Given the description of an element on the screen output the (x, y) to click on. 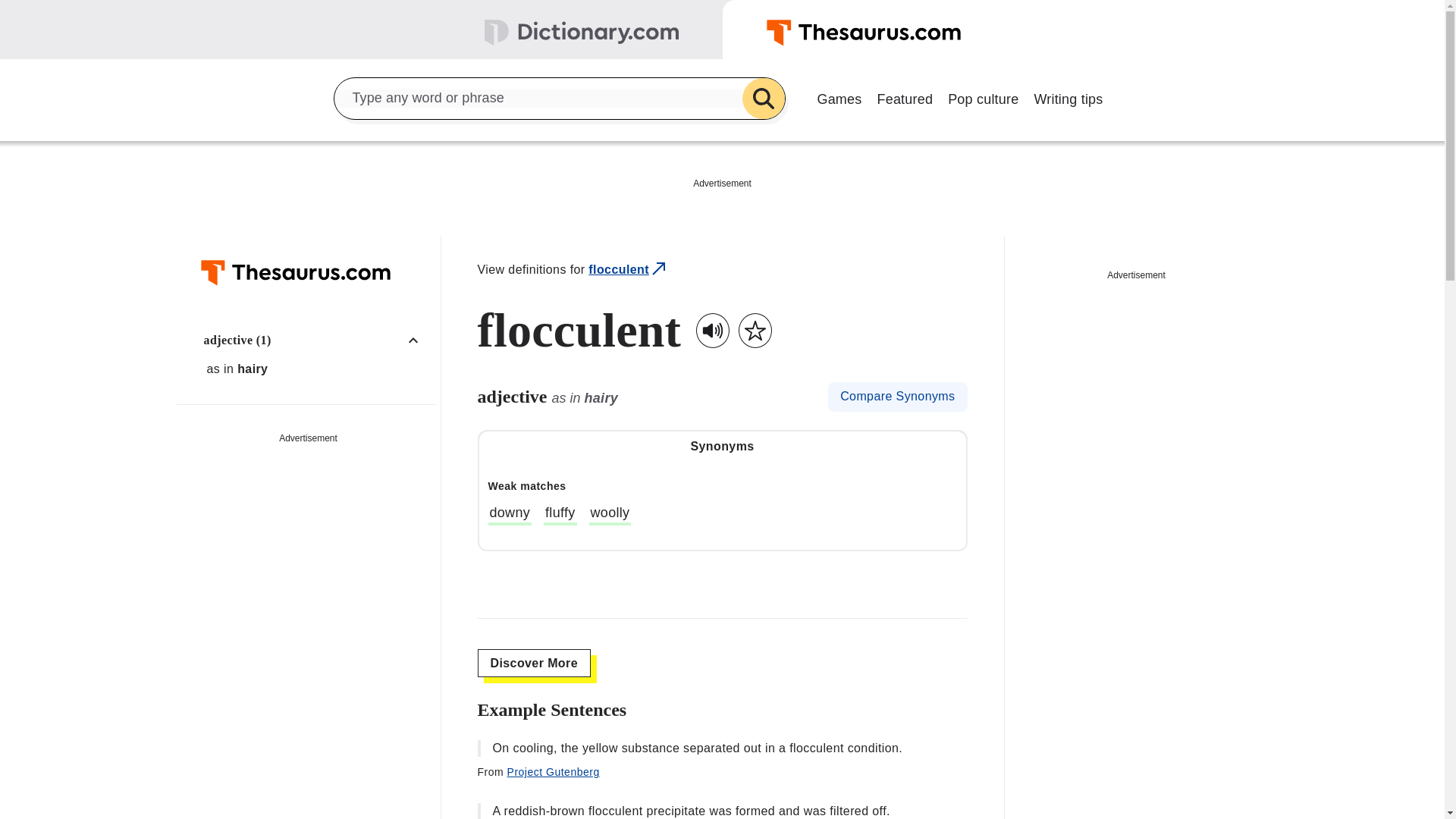
downy (509, 514)
flocculent (628, 270)
Compare Synonyms (897, 396)
Synonyms (722, 446)
as in hairy (316, 369)
Pop culture (983, 97)
Games (839, 97)
Featured (904, 97)
fluffy (559, 514)
Writing tips (1067, 97)
